Given the description of an element on the screen output the (x, y) to click on. 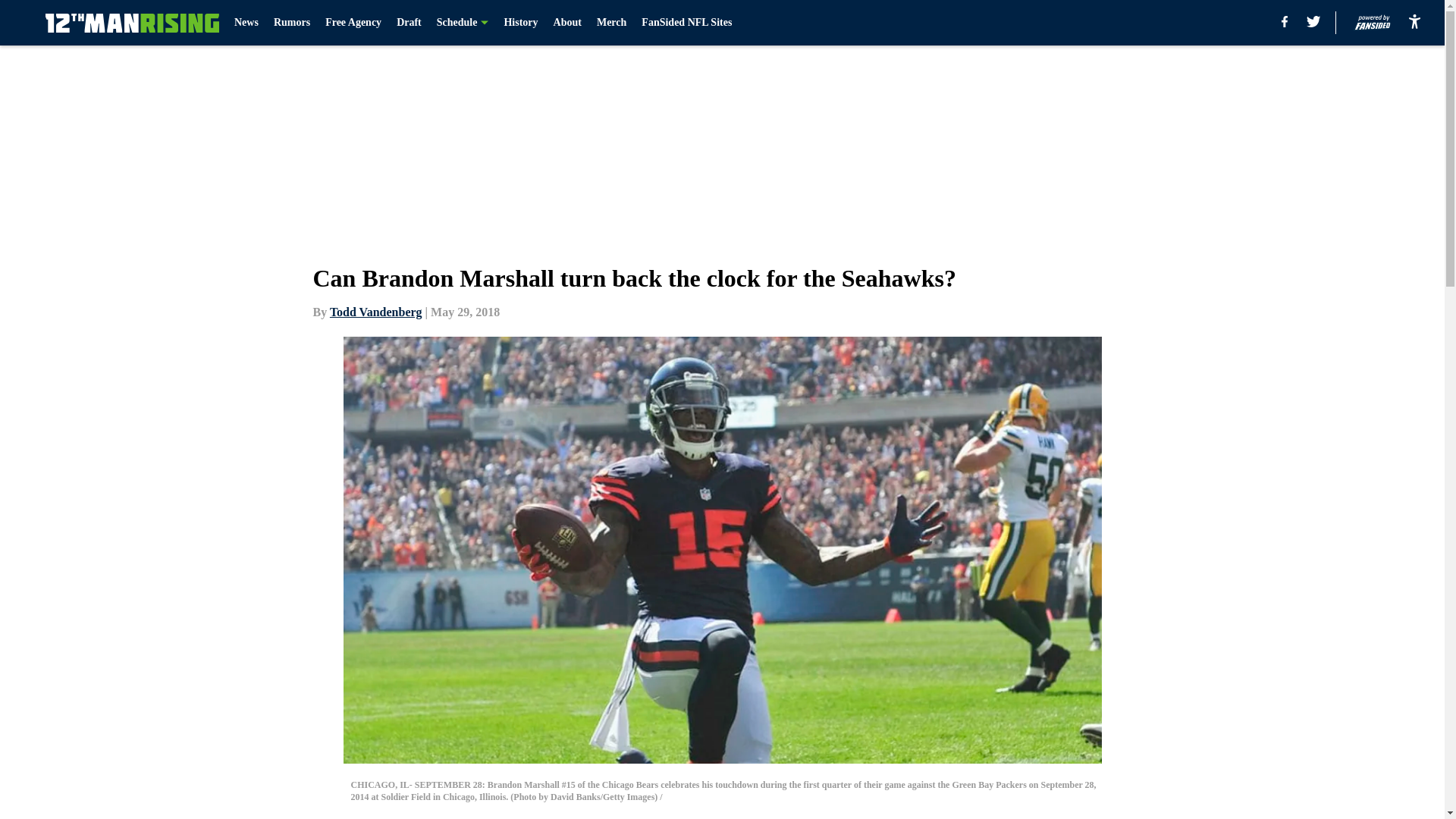
News (246, 22)
History (520, 22)
FanSided NFL Sites (687, 22)
Todd Vandenberg (376, 311)
About (566, 22)
Merch (611, 22)
Free Agency (352, 22)
Draft (409, 22)
Rumors (291, 22)
